Given the description of an element on the screen output the (x, y) to click on. 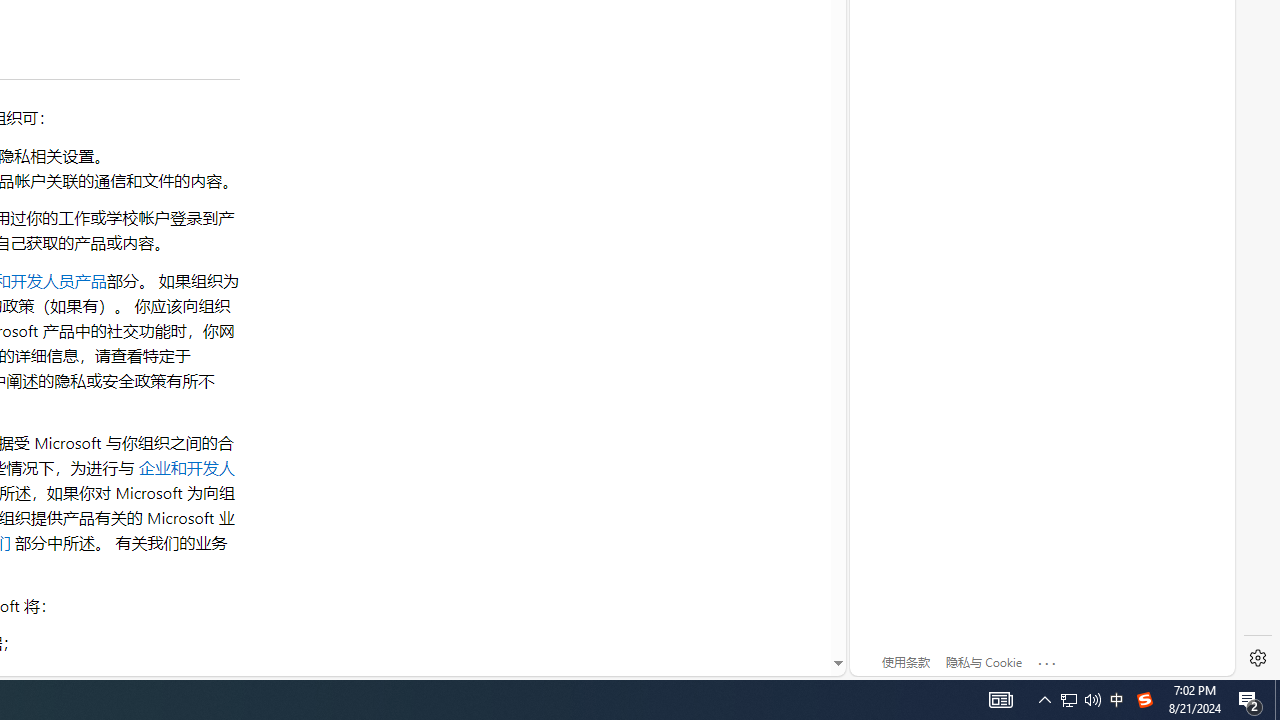
AutomationID: 4105 (1000, 699)
Notification Chevron (1044, 699)
Action Center, 2 new notifications (1250, 699)
Tray Input Indicator - Chinese (Simplified, China) (1144, 699)
Q2790: 100% (1092, 699)
User Promoted Notification Area (1069, 699)
Show desktop (1080, 699)
